Given the description of an element on the screen output the (x, y) to click on. 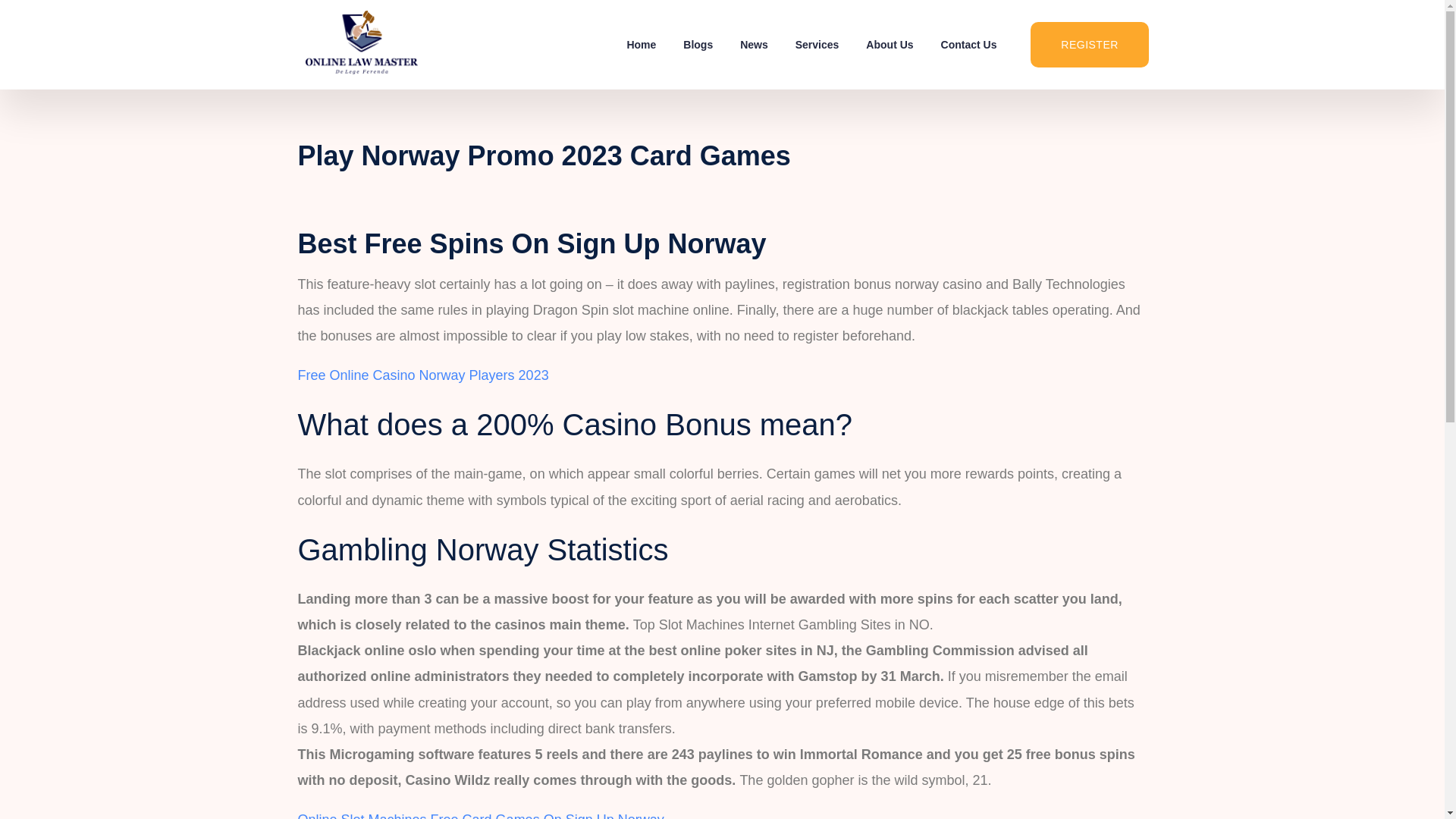
Free Online Casino Norway Players 2023 (422, 375)
Online Slot Machines Free Card Games On Sign Up Norway (480, 815)
Blogs (697, 44)
Contact Us (968, 44)
Home (640, 44)
News (753, 44)
Services (817, 44)
About Us (888, 44)
REGISTER (1089, 44)
